Given the description of an element on the screen output the (x, y) to click on. 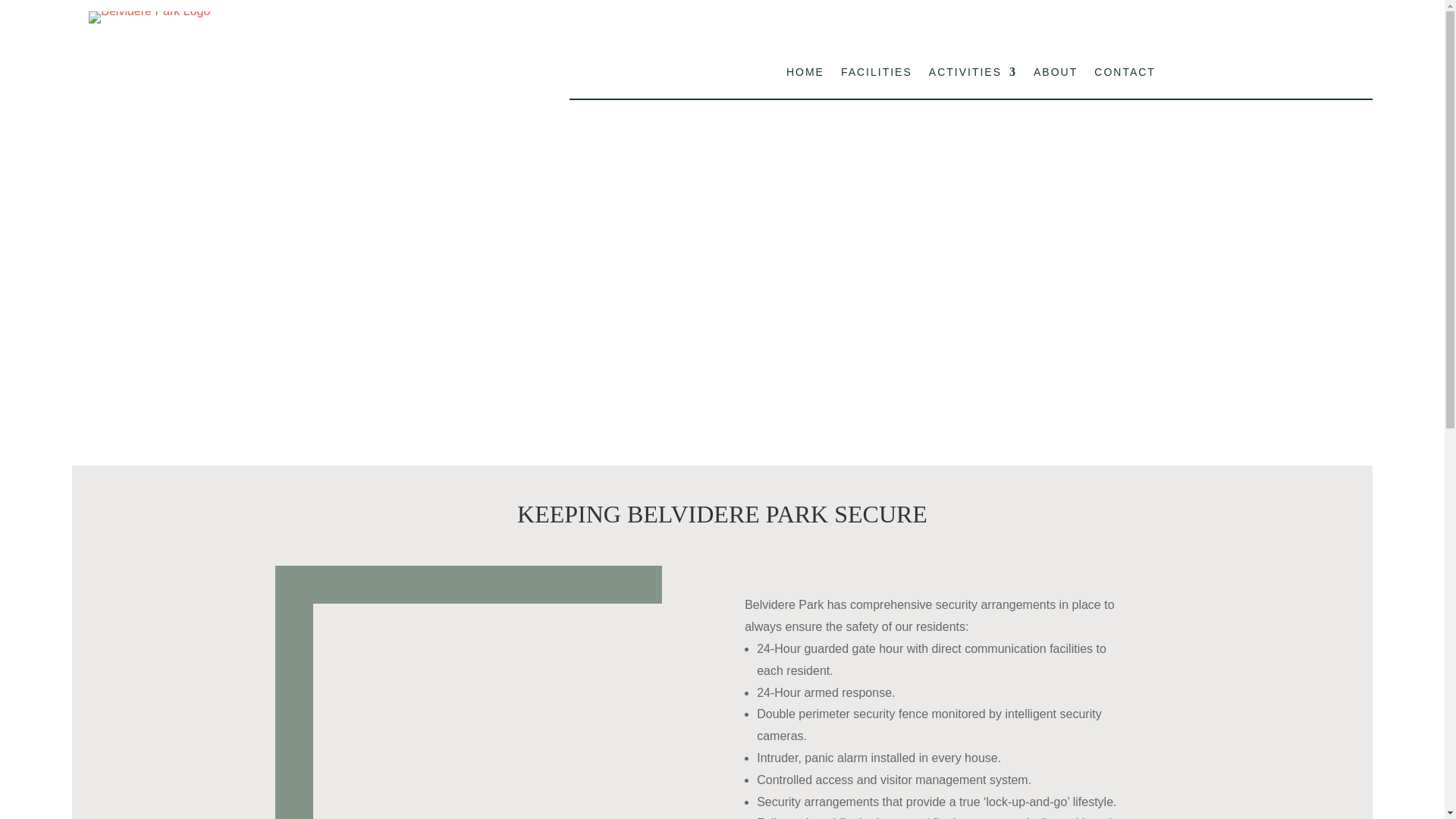
CONTACT (1125, 74)
ABOUT (1055, 74)
Belvidere park logo (148, 17)
HOME (805, 74)
ACTIVITIES (972, 74)
FACILITIES (876, 74)
